Given the description of an element on the screen output the (x, y) to click on. 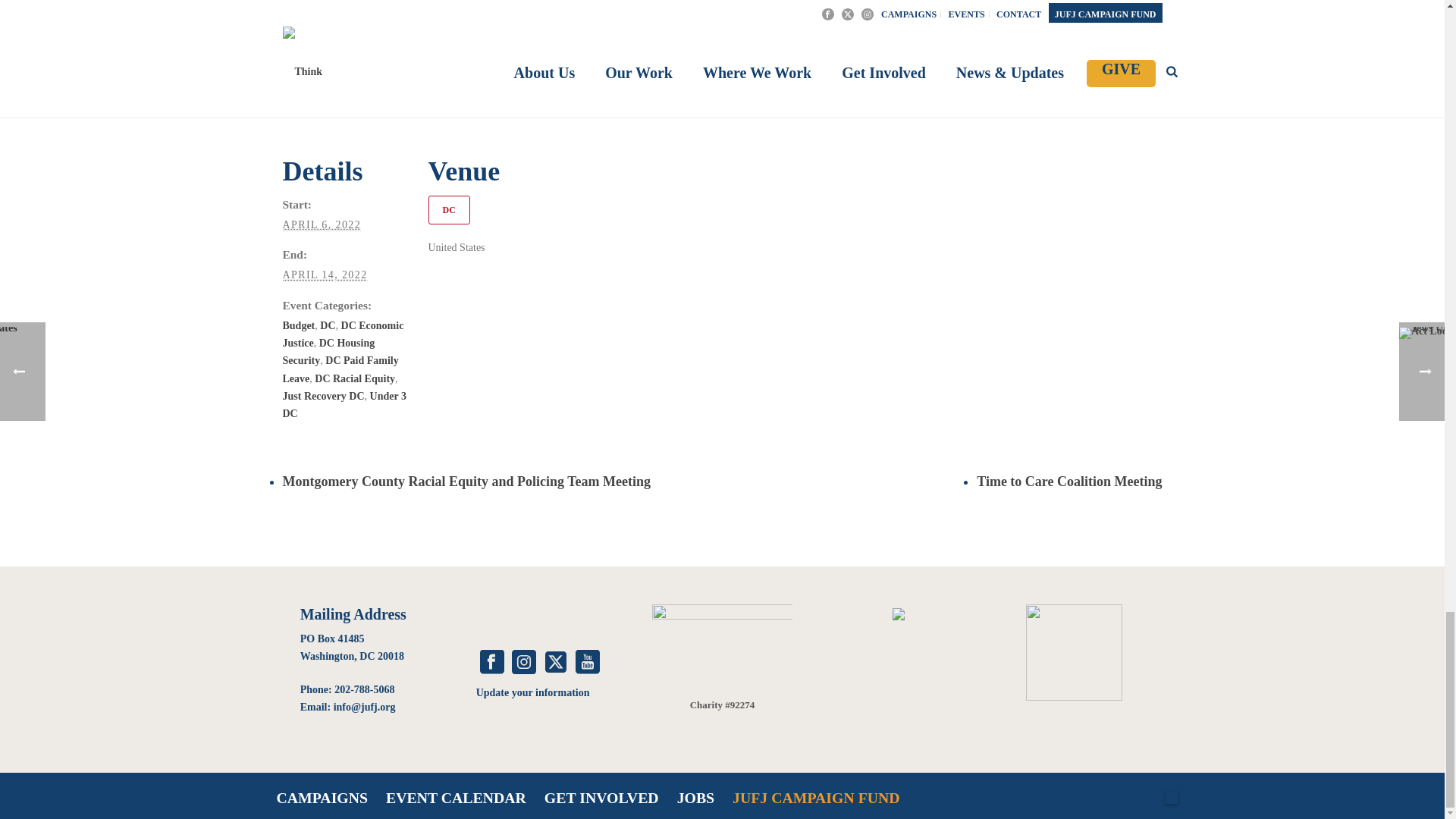
Social: instagram (523, 663)
Social: facebook (491, 663)
2022-04-06 (321, 224)
Social: youtube (587, 663)
2022-04-14 (324, 275)
Social: twitter (555, 663)
